Given the description of an element on the screen output the (x, y) to click on. 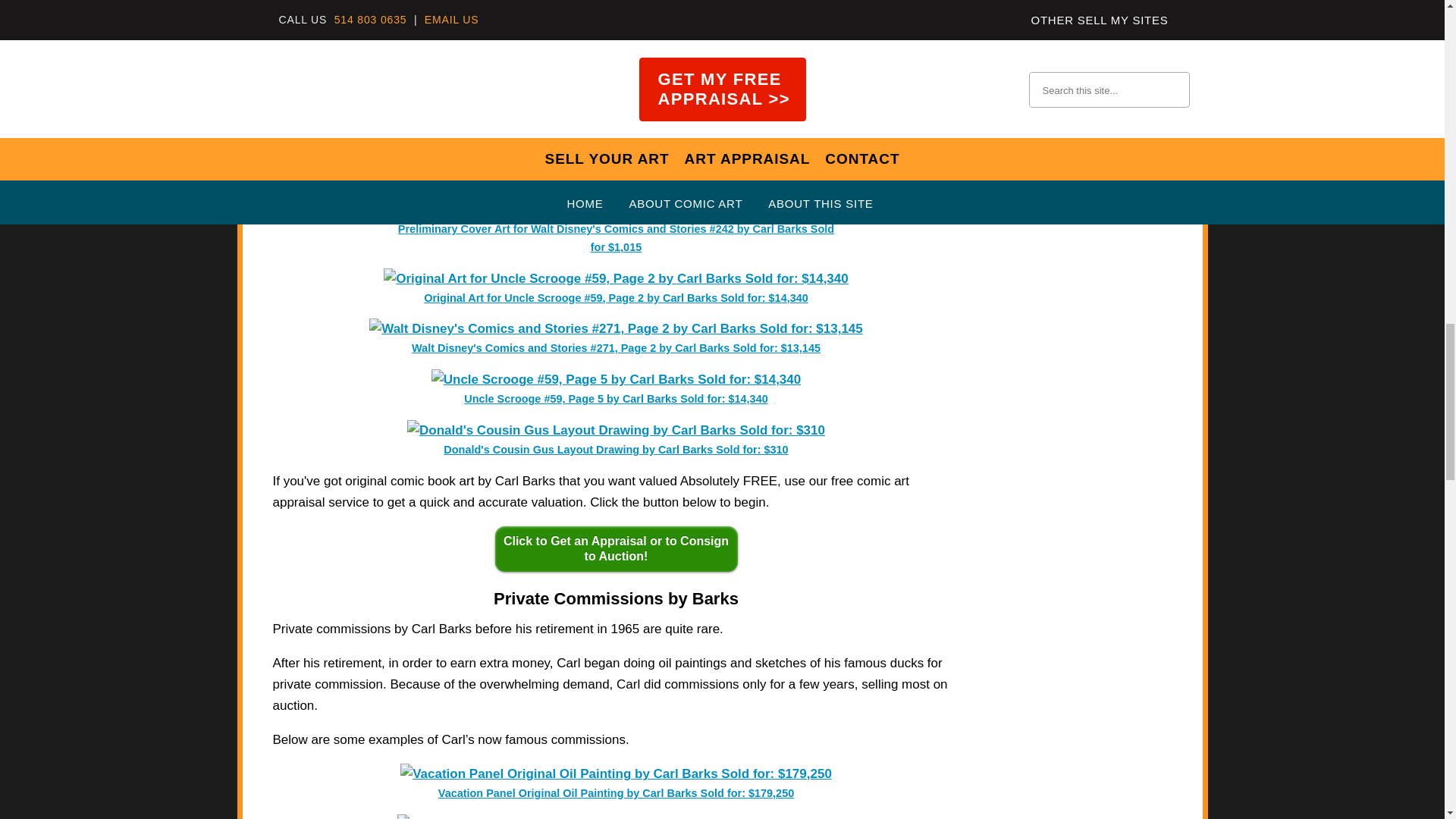
Click to Get an Appraisal or to Consign to Auction! (615, 548)
